Given the description of an element on the screen output the (x, y) to click on. 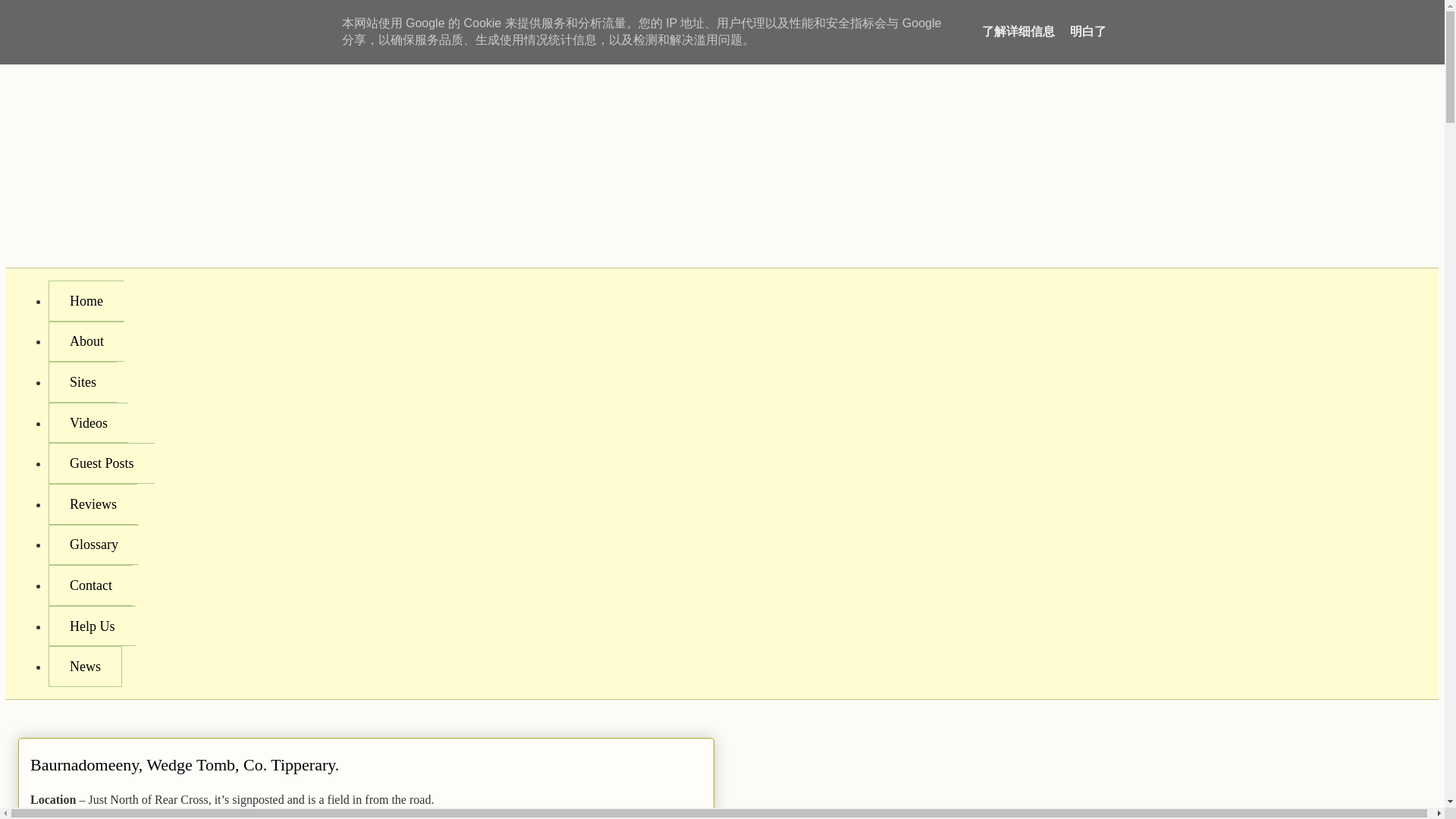
Videos (88, 422)
Glossary (93, 544)
Sites (82, 381)
Contact (90, 585)
Guest Posts (101, 463)
News (85, 666)
Reviews (92, 504)
Help Us (91, 626)
Home (85, 300)
About (85, 341)
